Given the description of an element on the screen output the (x, y) to click on. 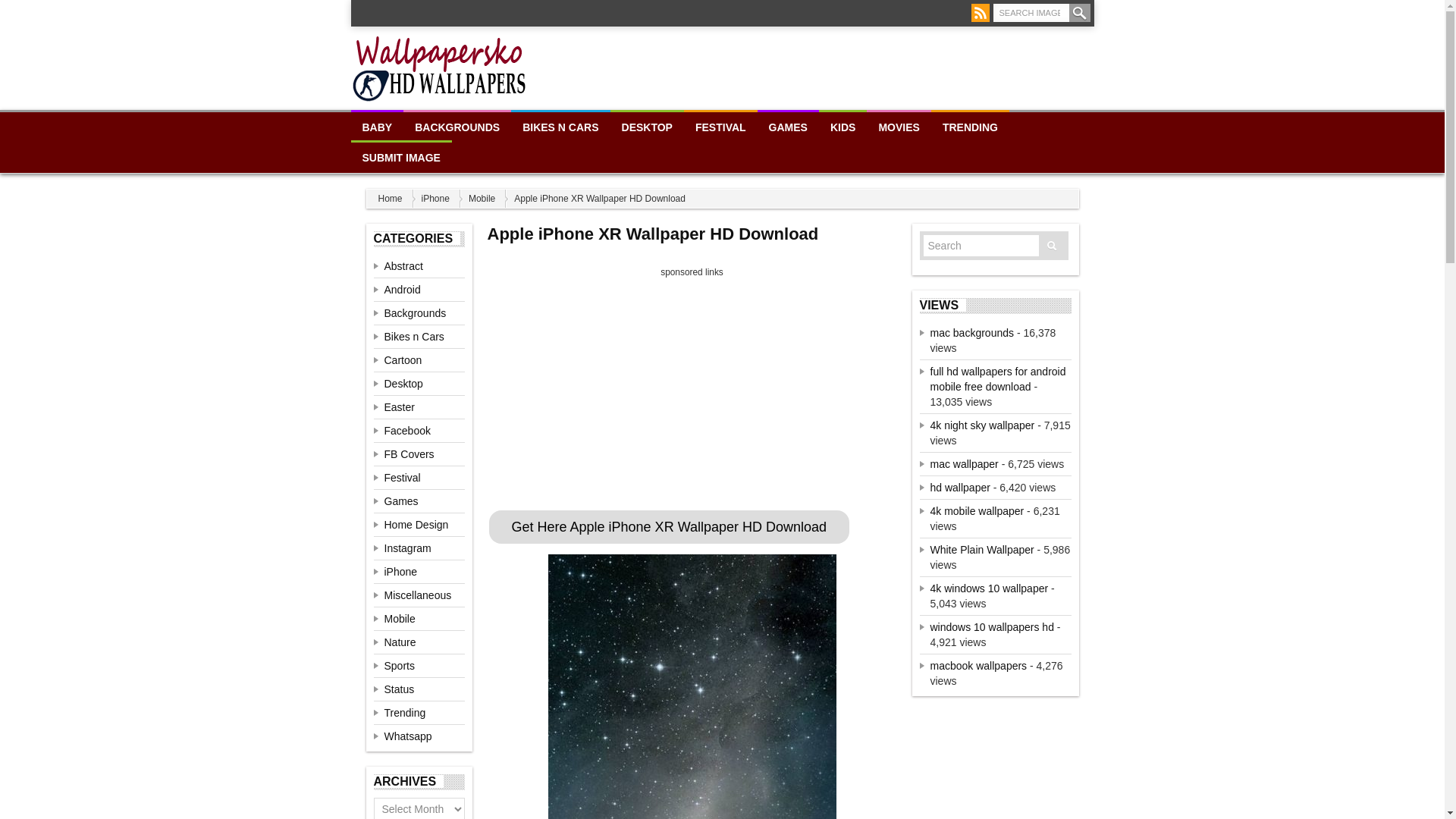
Search (1079, 13)
Backgrounds (414, 313)
Whatsapp (407, 736)
Cartoon (403, 359)
Instagram (407, 548)
Get Here Apple iPhone XR Wallpaper HD Download (668, 525)
Nature (399, 642)
SUBMIT IMAGE (400, 156)
iPhone (443, 198)
Desktop (403, 383)
TRENDING (970, 125)
Festival (402, 477)
BIKES N CARS (560, 125)
Facebook (406, 430)
Mobile (489, 198)
